Given the description of an element on the screen output the (x, y) to click on. 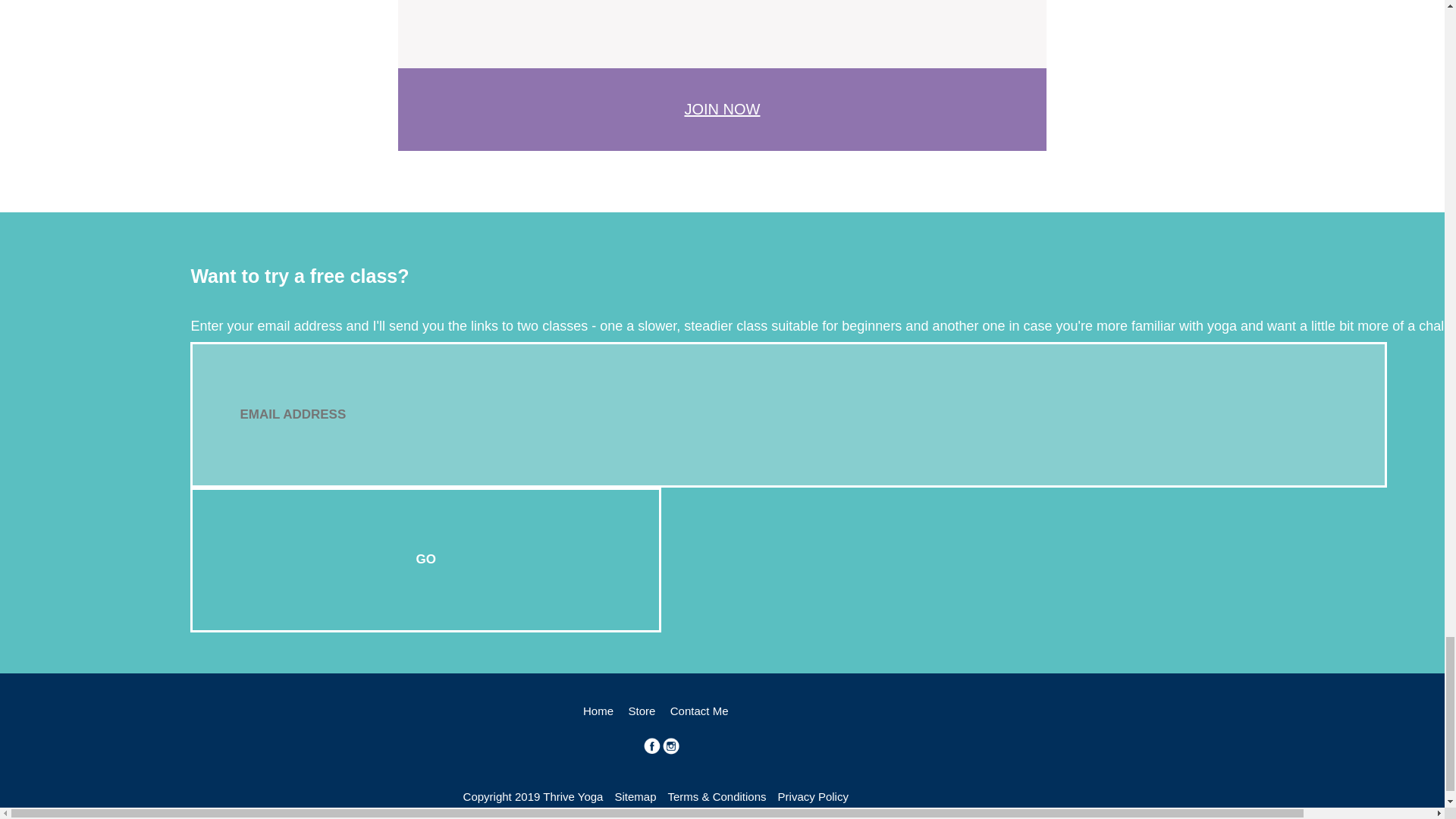
Privacy Policy (812, 796)
Sitemap (635, 796)
Contact Me (699, 710)
Store (641, 710)
Home (597, 710)
JOIN NOW (721, 108)
GO (425, 559)
GO (425, 559)
